Given the description of an element on the screen output the (x, y) to click on. 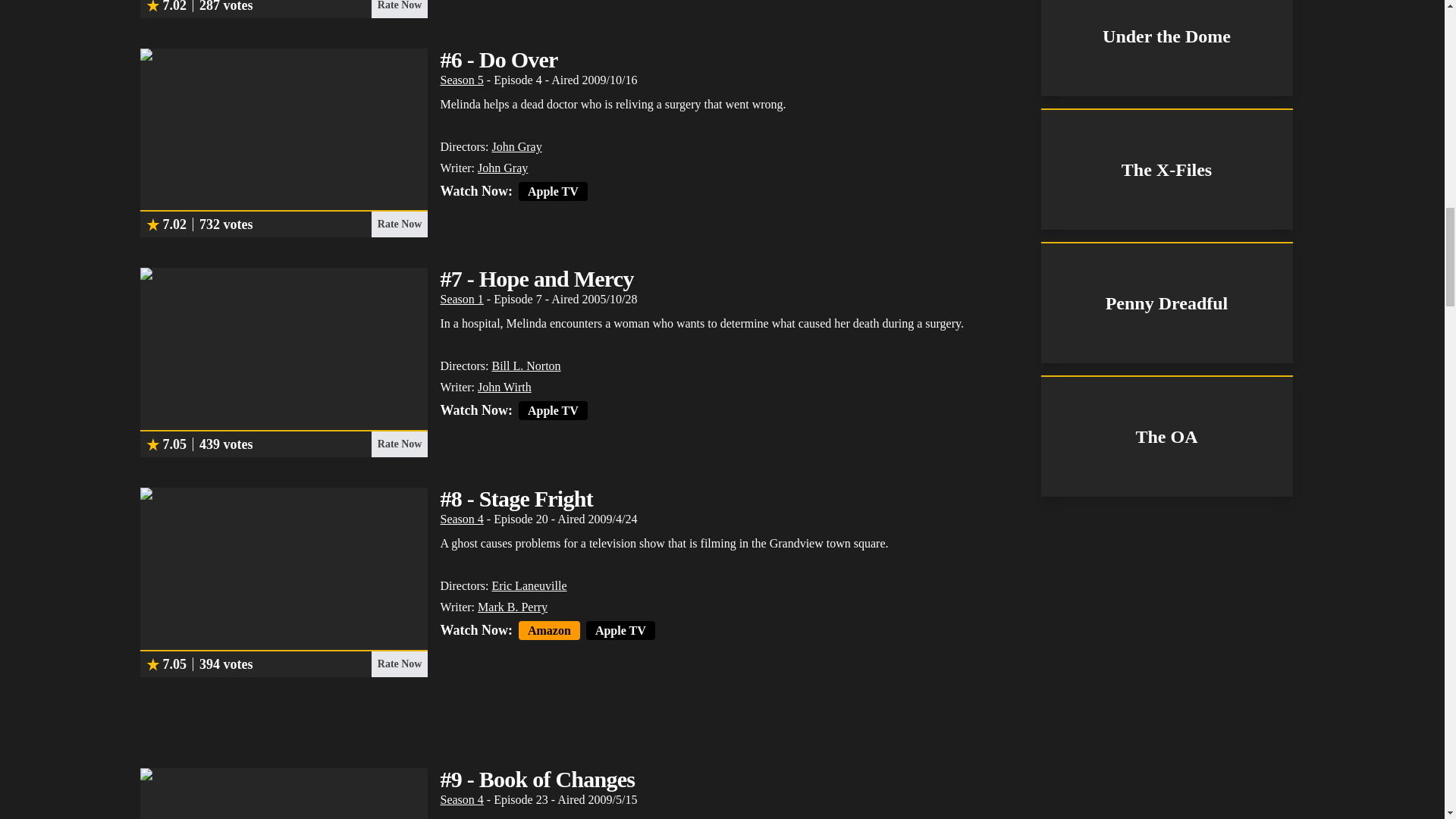
Rate Now (399, 224)
John Gray (516, 146)
Season 5 (461, 79)
Rate Now (399, 9)
John Gray (502, 167)
